Given the description of an element on the screen output the (x, y) to click on. 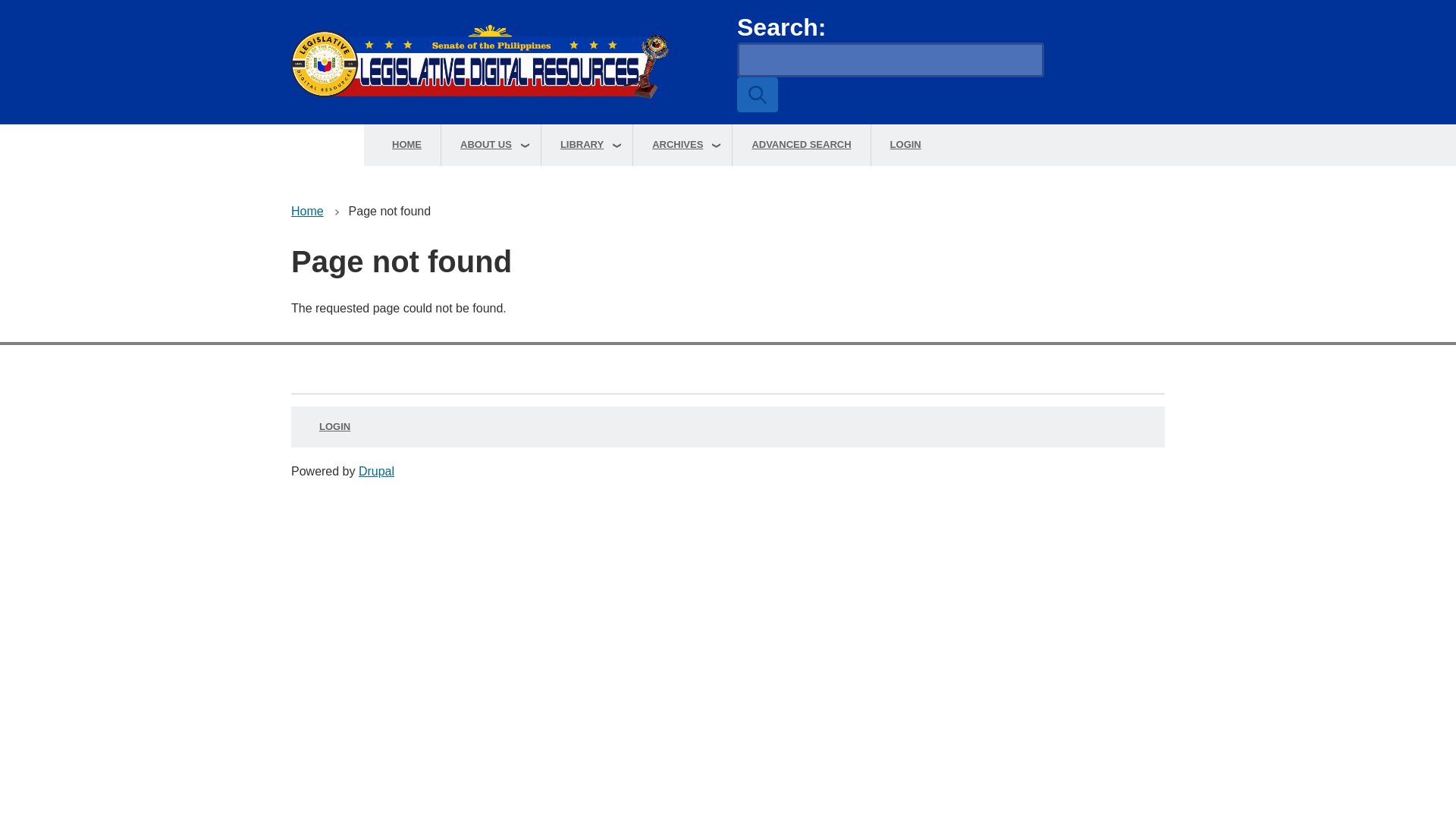
LIBRARY (586, 145)
About Us (490, 145)
Search (756, 94)
Library (586, 145)
ABOUT US (490, 145)
HOME (406, 145)
Search (756, 94)
Home (505, 62)
